Given the description of an element on the screen output the (x, y) to click on. 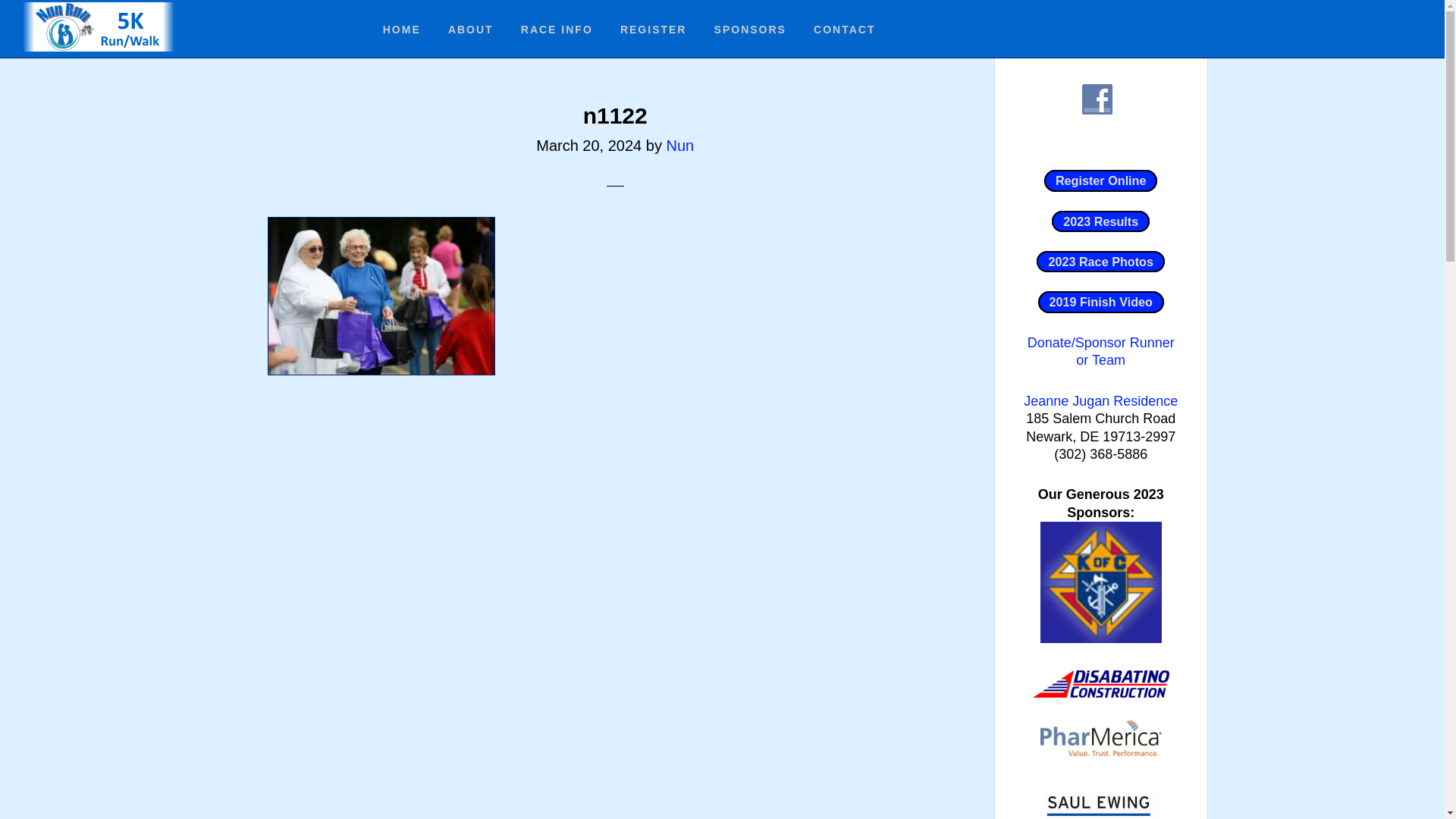
NUN RUN 5K RACE IN NEWARK DELAWARE (98, 26)
2023 Results (1100, 220)
2023 Race Photos (1099, 260)
Follow Us on Facebook (1096, 99)
ABOUT (470, 29)
HOME (401, 29)
